Given the description of an element on the screen output the (x, y) to click on. 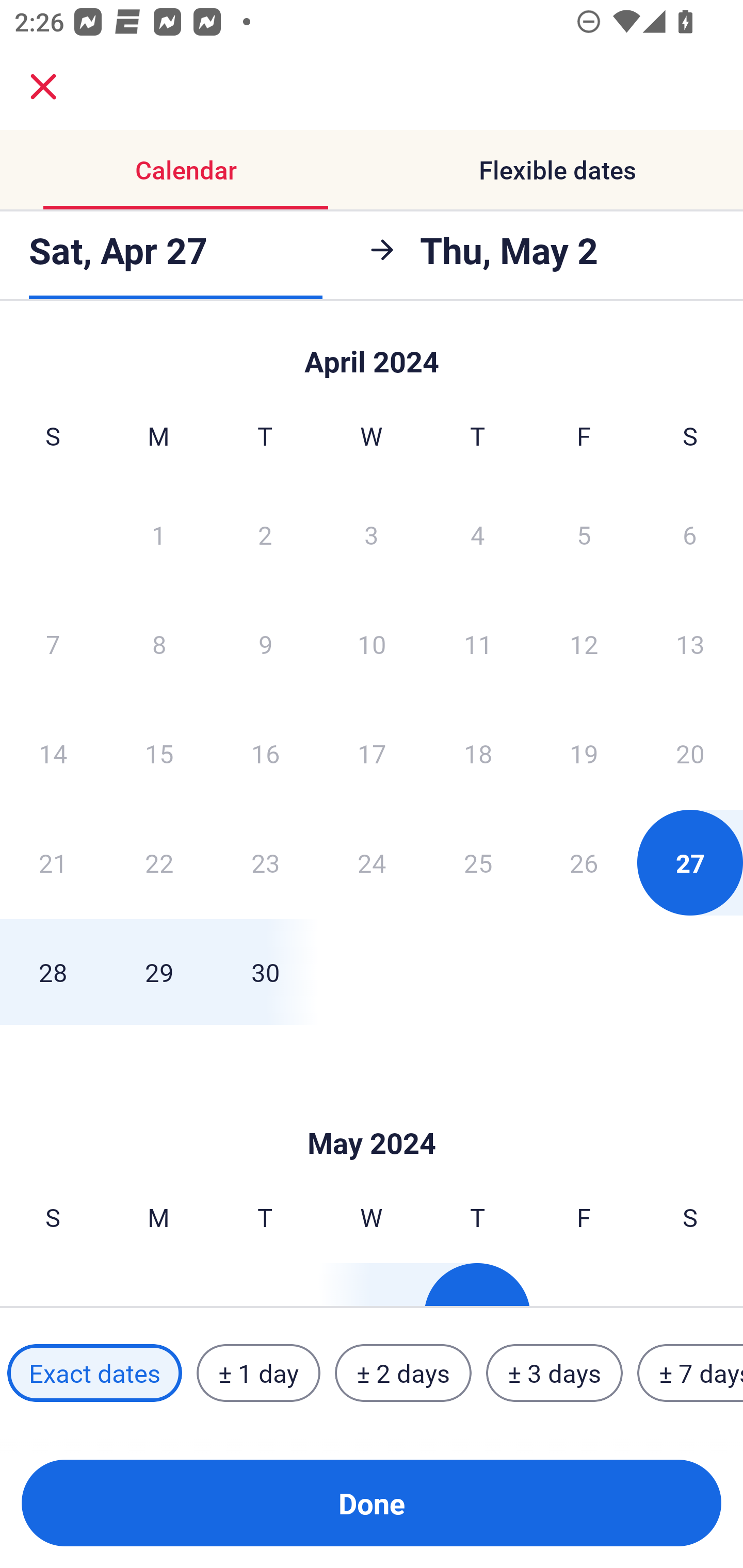
close. (43, 86)
Flexible dates (557, 170)
Skip to Done (371, 352)
1 Monday, April 1, 2024 (158, 534)
2 Tuesday, April 2, 2024 (264, 534)
3 Wednesday, April 3, 2024 (371, 534)
4 Thursday, April 4, 2024 (477, 534)
5 Friday, April 5, 2024 (583, 534)
6 Saturday, April 6, 2024 (689, 534)
7 Sunday, April 7, 2024 (53, 643)
8 Monday, April 8, 2024 (159, 643)
9 Tuesday, April 9, 2024 (265, 643)
10 Wednesday, April 10, 2024 (371, 643)
11 Thursday, April 11, 2024 (477, 643)
12 Friday, April 12, 2024 (584, 643)
13 Saturday, April 13, 2024 (690, 643)
14 Sunday, April 14, 2024 (53, 752)
15 Monday, April 15, 2024 (159, 752)
16 Tuesday, April 16, 2024 (265, 752)
17 Wednesday, April 17, 2024 (371, 752)
18 Thursday, April 18, 2024 (477, 752)
19 Friday, April 19, 2024 (584, 752)
20 Saturday, April 20, 2024 (690, 752)
21 Sunday, April 21, 2024 (53, 862)
22 Monday, April 22, 2024 (159, 862)
23 Tuesday, April 23, 2024 (265, 862)
24 Wednesday, April 24, 2024 (371, 862)
25 Thursday, April 25, 2024 (477, 862)
26 Friday, April 26, 2024 (584, 862)
Skip to Done (371, 1112)
Exact dates (94, 1372)
± 1 day (258, 1372)
± 2 days (403, 1372)
± 3 days (553, 1372)
± 7 days (690, 1372)
Done (371, 1502)
